Given the description of an element on the screen output the (x, y) to click on. 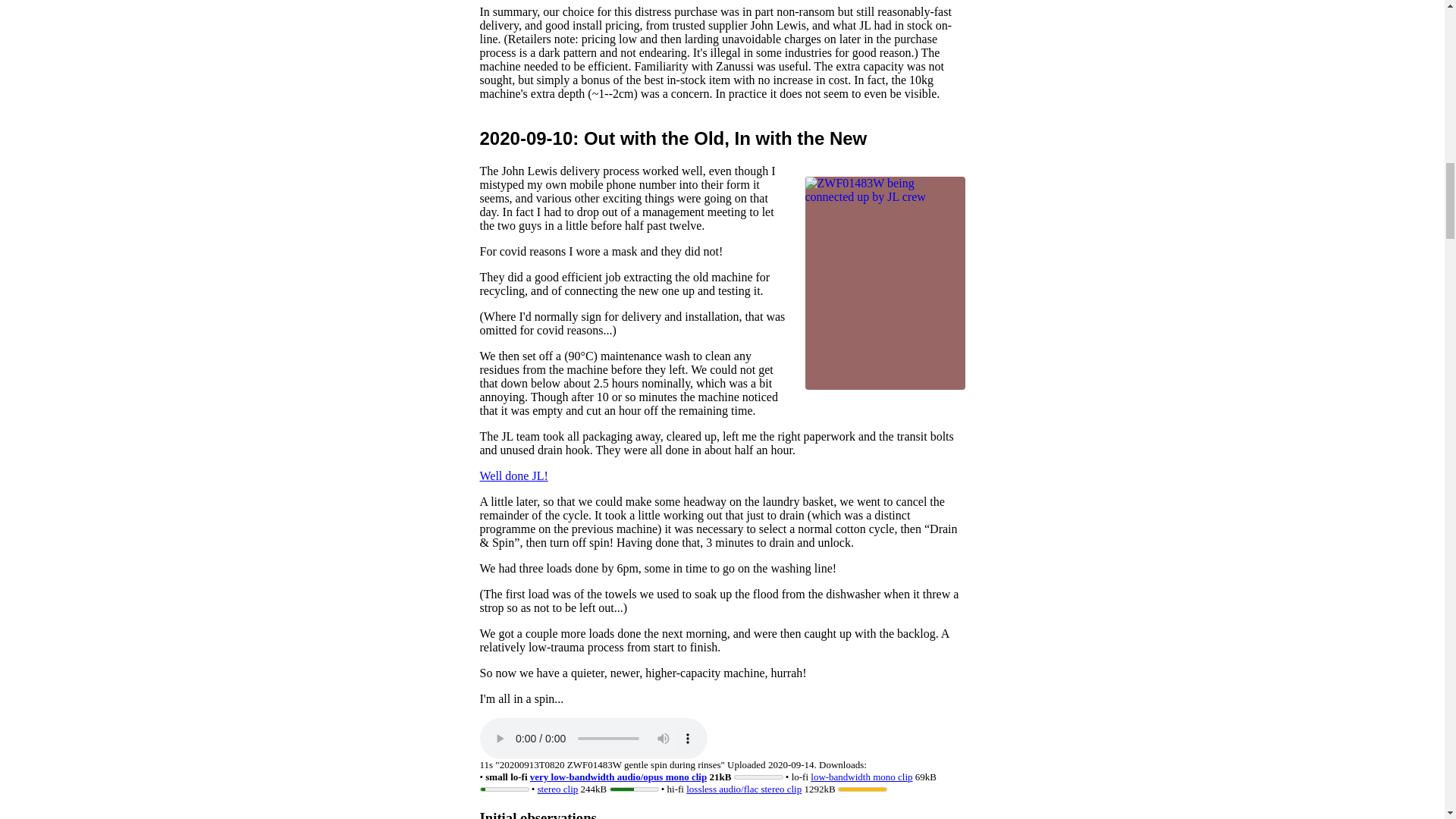
20200913T0820 ZWF01483W gentle spin during rinses (592, 738)
low-bandwidth mono clip (861, 776)
Well done JL! (513, 475)
stereo clip (557, 788)
